Given the description of an element on the screen output the (x, y) to click on. 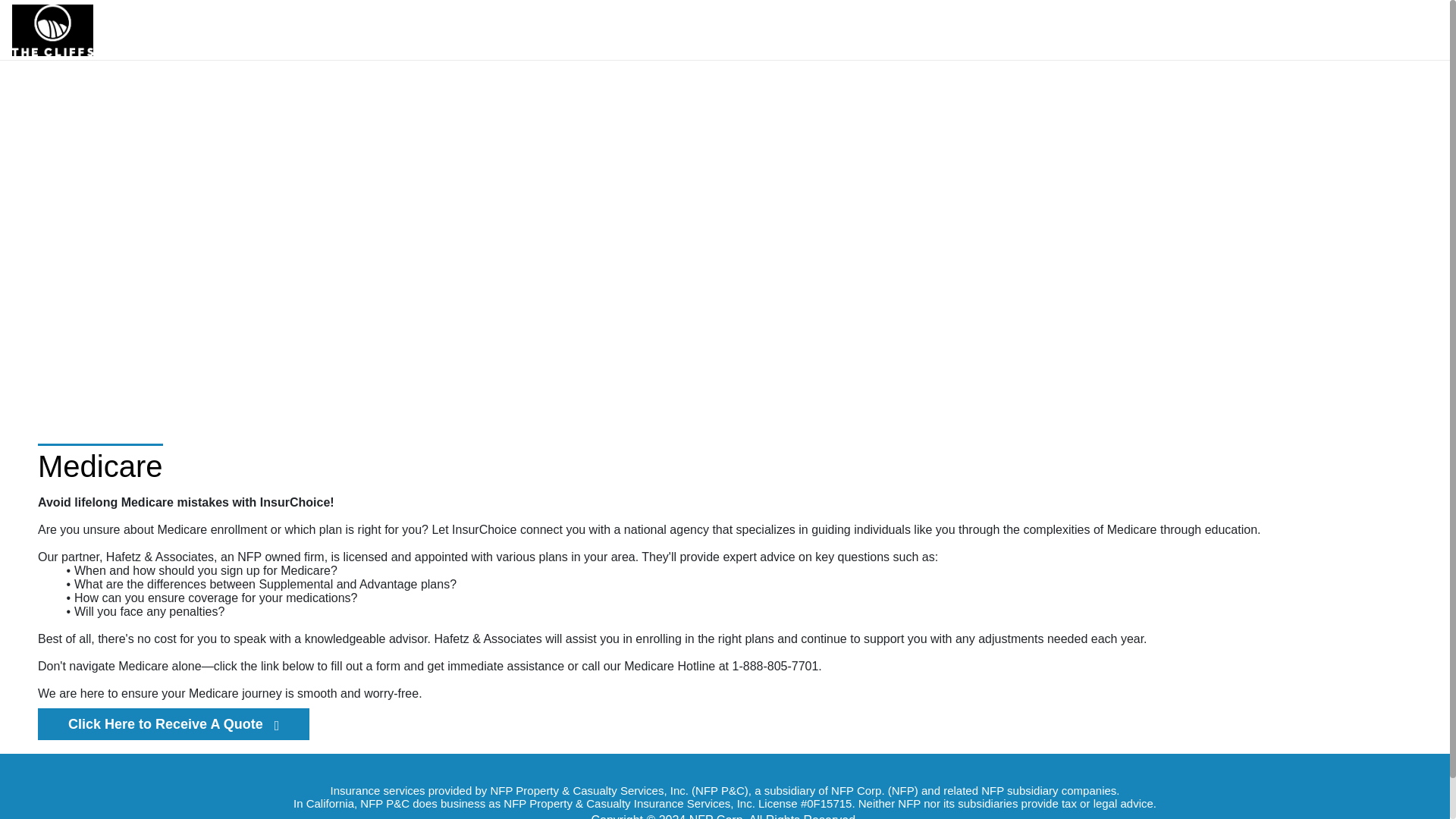
Click Here to Receive A Quote (172, 724)
